Given the description of an element on the screen output the (x, y) to click on. 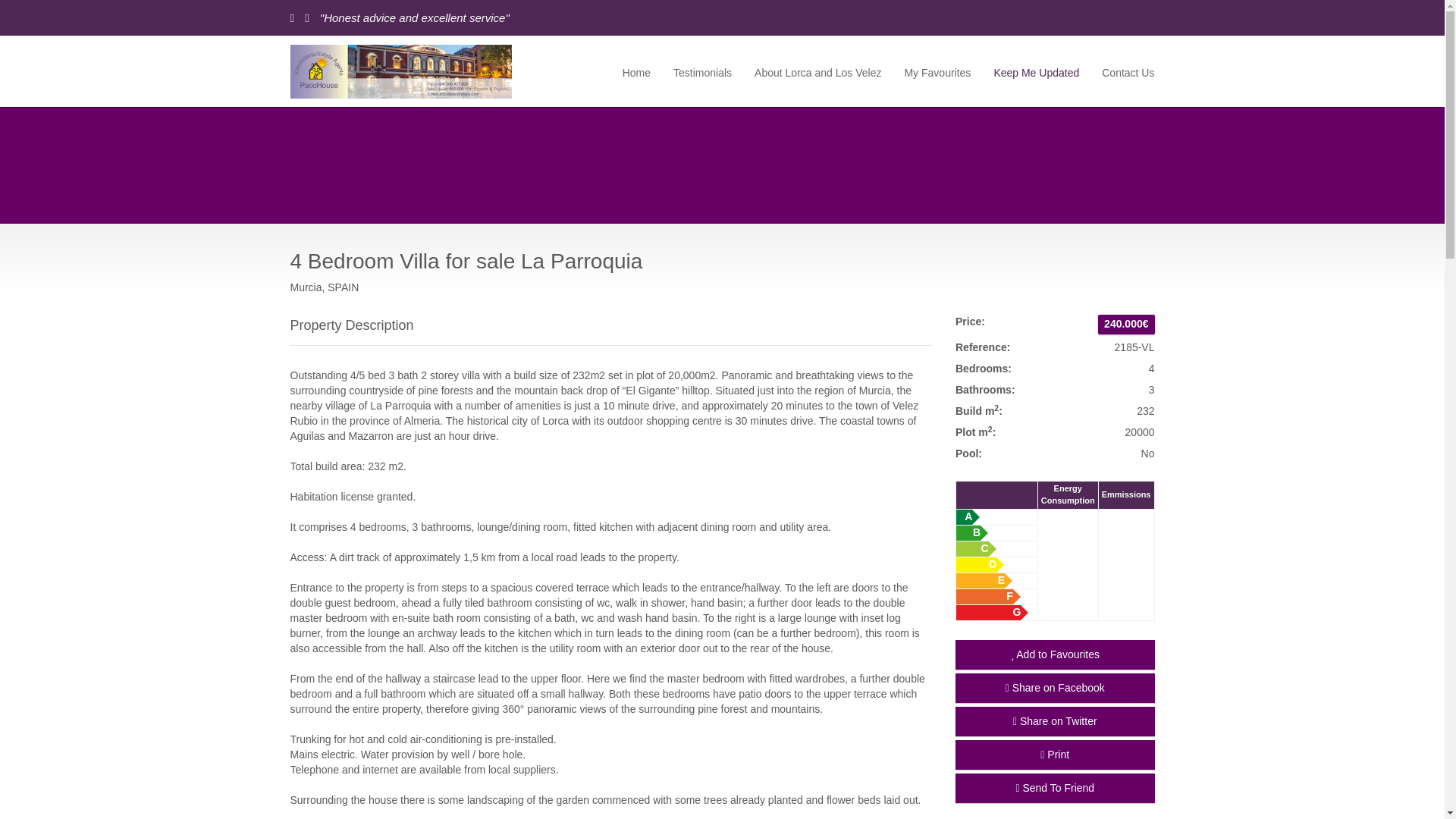
Contact Us (1122, 71)
Home (636, 71)
About Lorca and Los Velez (817, 71)
Keep Me Updated (1035, 71)
Testimonials (702, 71)
My Favourites (936, 71)
